Given the description of an element on the screen output the (x, y) to click on. 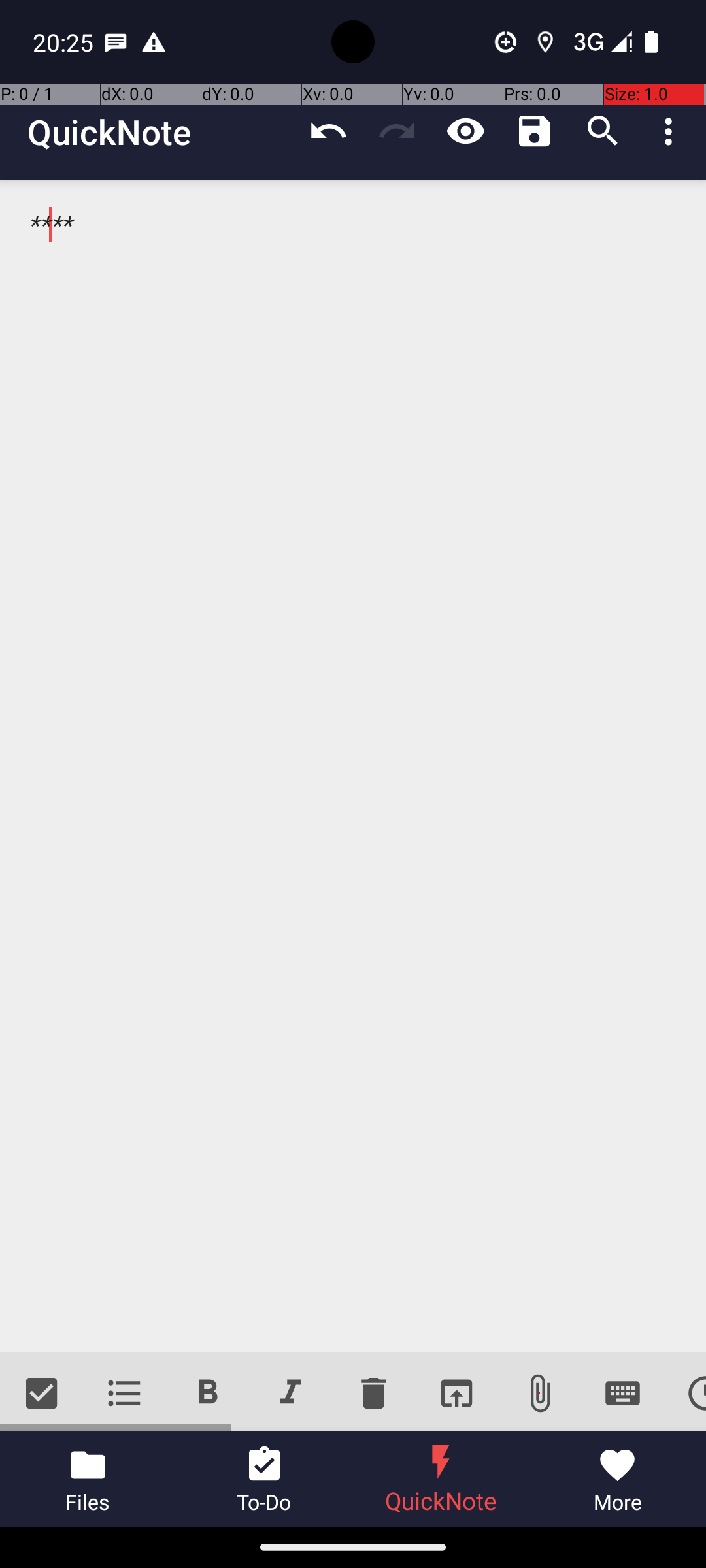
**** Element type: android.widget.EditText (353, 765)
20:25 Element type: android.widget.TextView (64, 41)
